Given the description of an element on the screen output the (x, y) to click on. 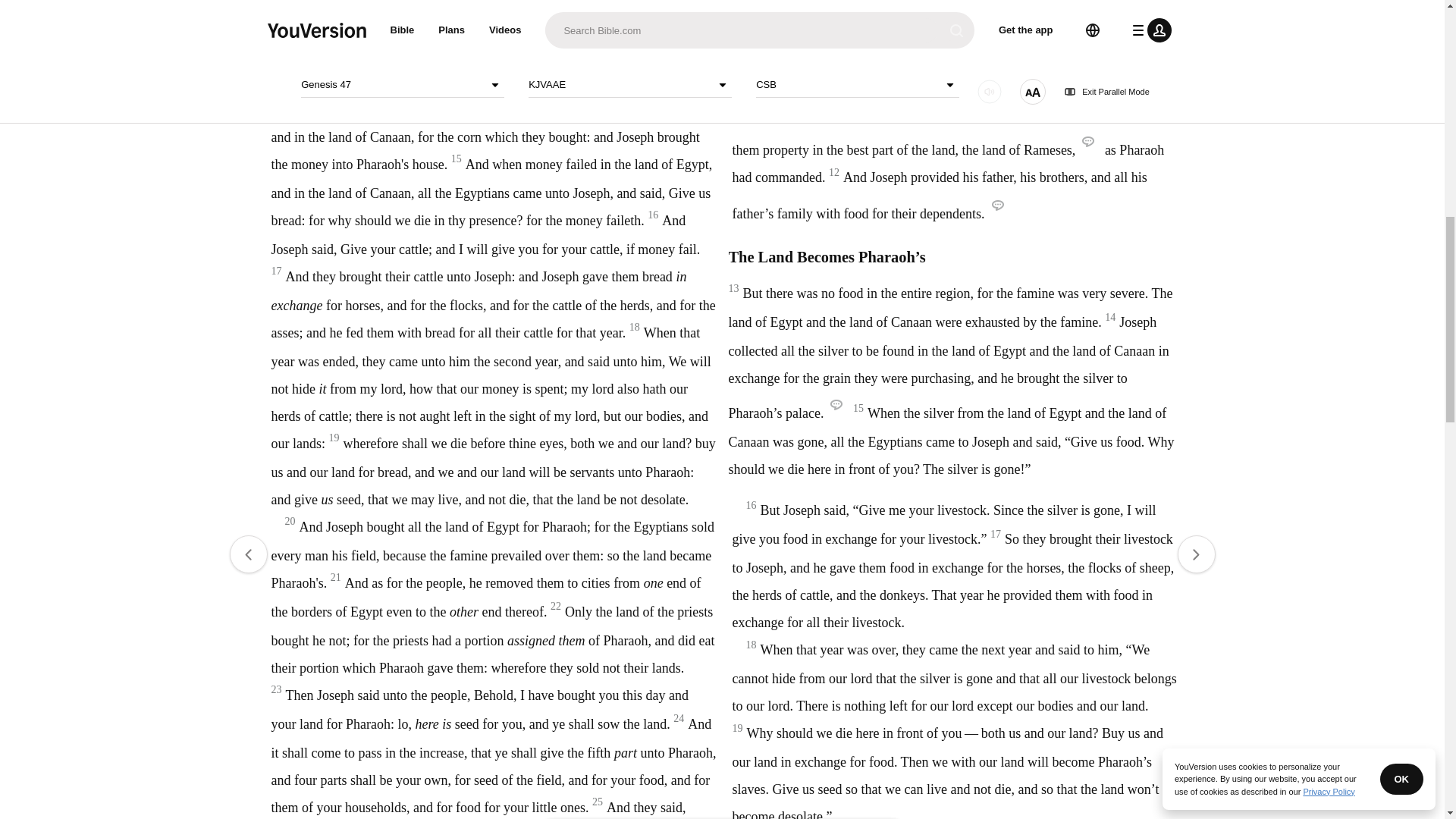
Genesis 47: KJVAAE (633, 47)
: (599, 47)
Sign up or sign in (774, 245)
